Given the description of an element on the screen output the (x, y) to click on. 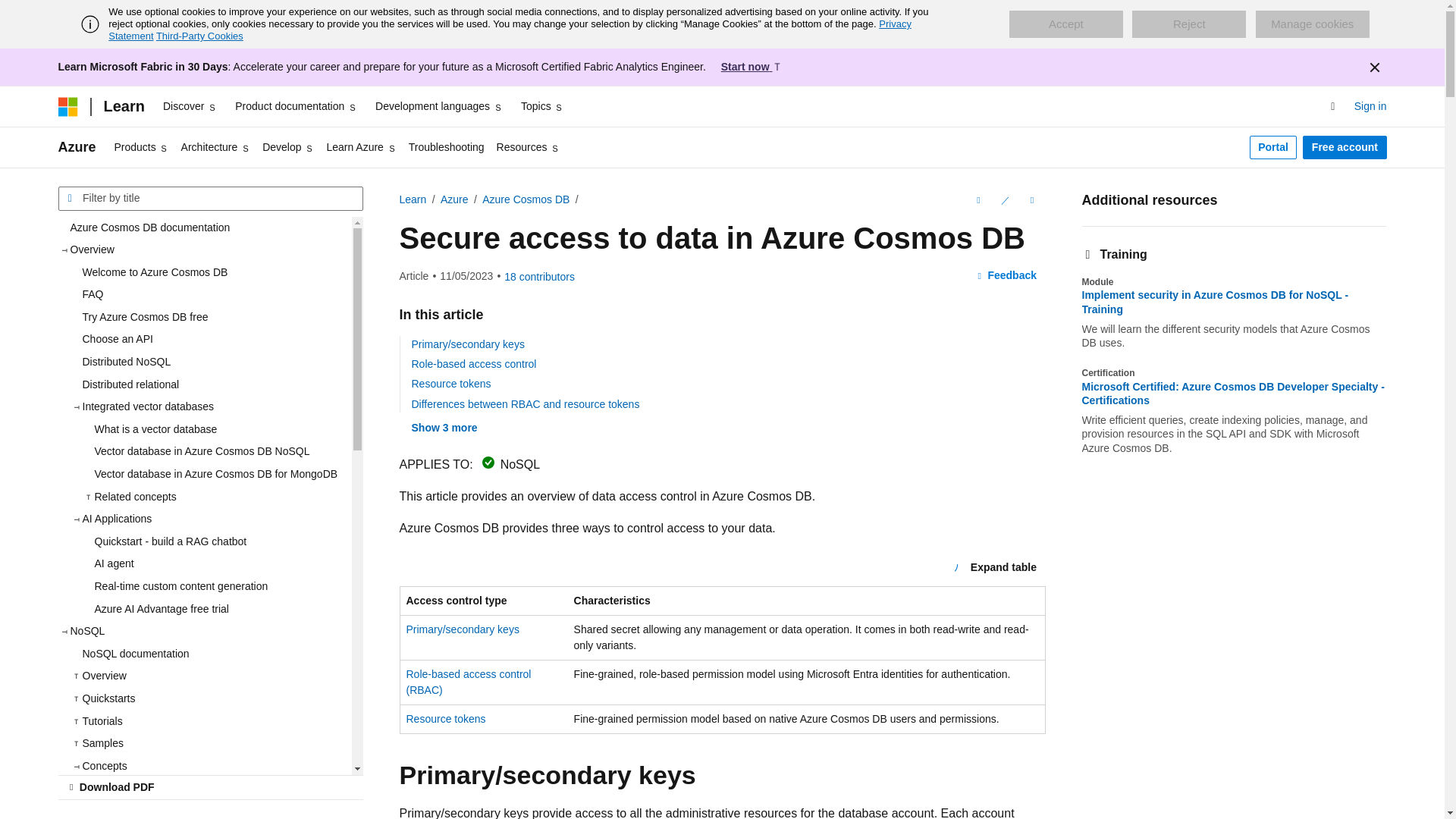
Skip to main content (11, 11)
Development languages (438, 106)
Manage cookies (1312, 23)
Edit This Document (1004, 200)
Learn (123, 106)
Azure (77, 147)
Start now (751, 66)
Dismiss alert (1373, 67)
Accept (1065, 23)
Sign in (1370, 107)
